Given the description of an element on the screen output the (x, y) to click on. 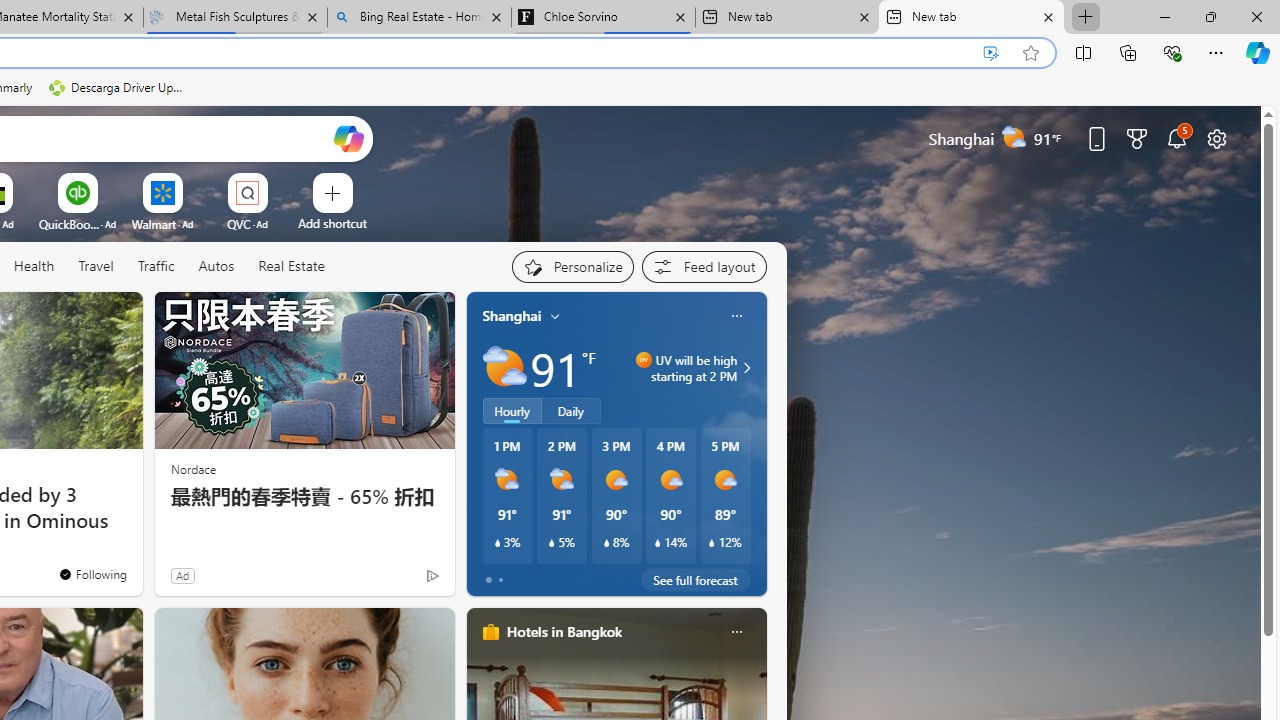
Autos (215, 265)
Traffic (155, 267)
Traffic (155, 265)
See full forecast (695, 579)
Real Estate (290, 267)
tab-1 (500, 579)
You're following The Weather Channel (390, 579)
